Given the description of an element on the screen output the (x, y) to click on. 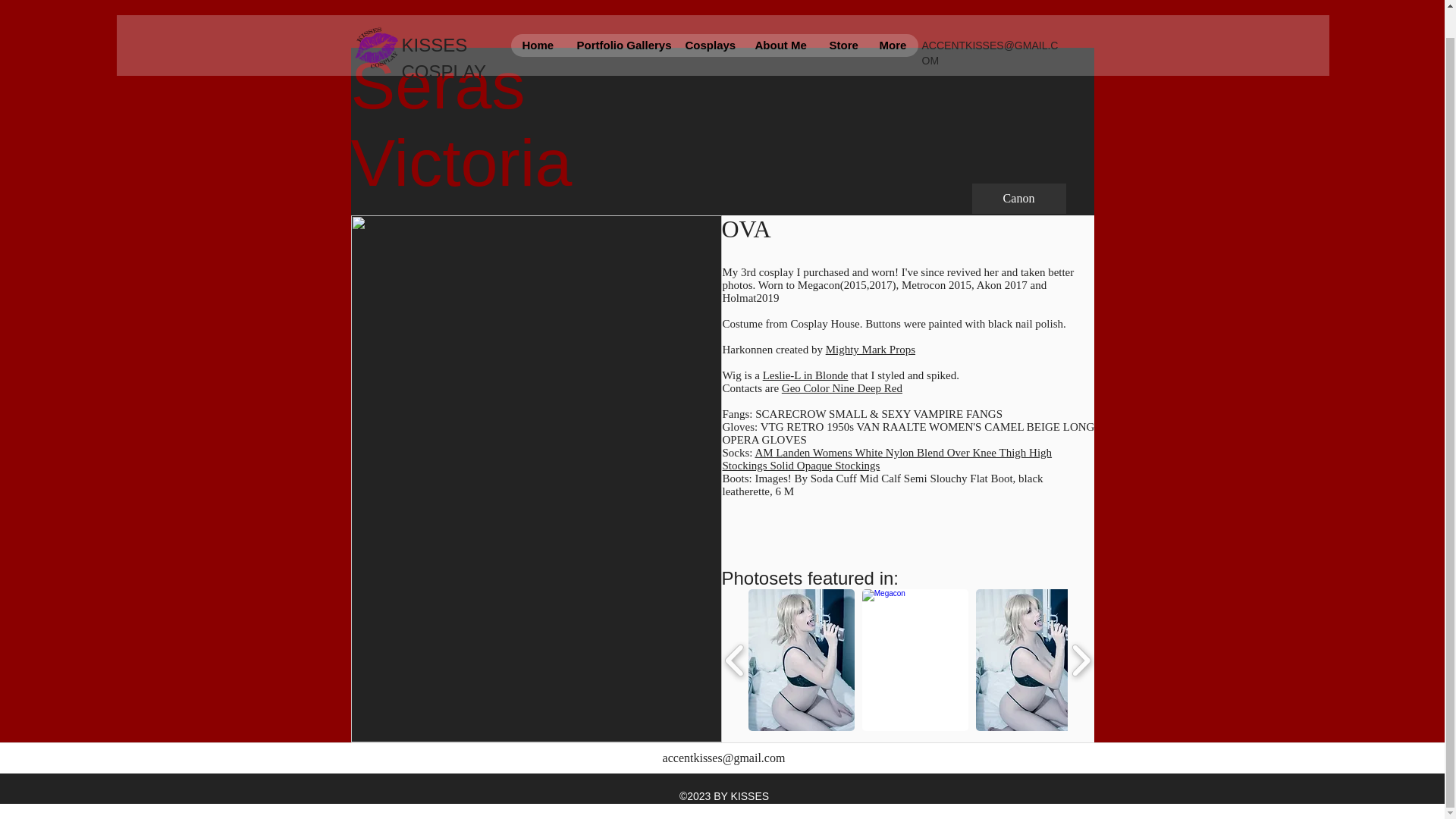
About Me (779, 16)
Portfolio Gallerys (618, 16)
Mighty Mark Props (870, 349)
Geo Color Nine Deep Red (841, 387)
Leslie-L in Blonde (805, 375)
Cosplays (707, 16)
Canon (1018, 198)
Home (537, 16)
Store (841, 16)
